Given the description of an element on the screen output the (x, y) to click on. 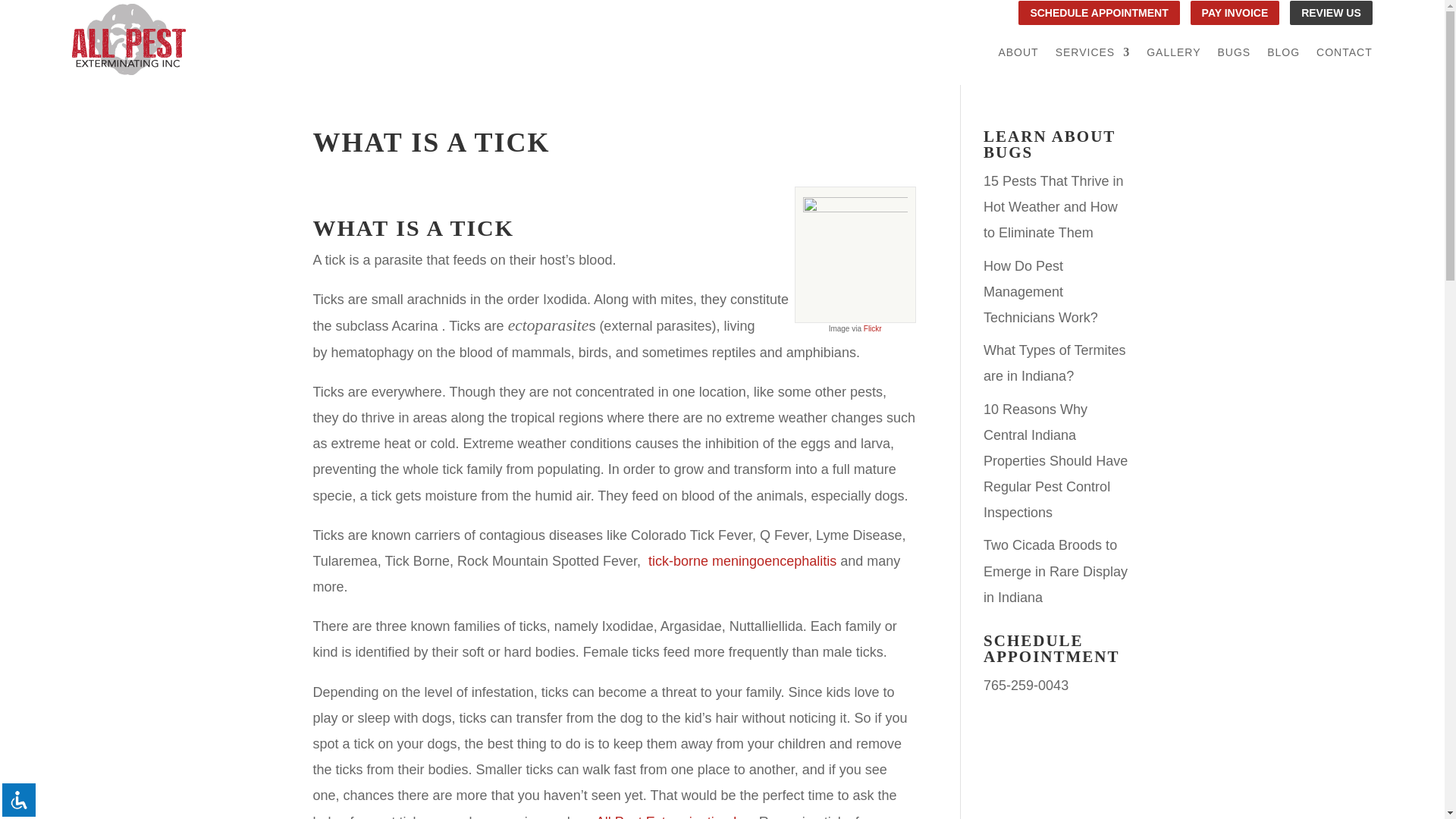
BLOG (1283, 54)
PAY INVOICE (1235, 12)
Flickr (872, 328)
How Do Pest Management Technicians Work? (1040, 291)
GALLERY (1173, 54)
What Is A Tick (413, 227)
All Pest Exterminating Inc (673, 816)
765-259-0043 (1026, 685)
BUGS (1233, 54)
